Given the description of an element on the screen output the (x, y) to click on. 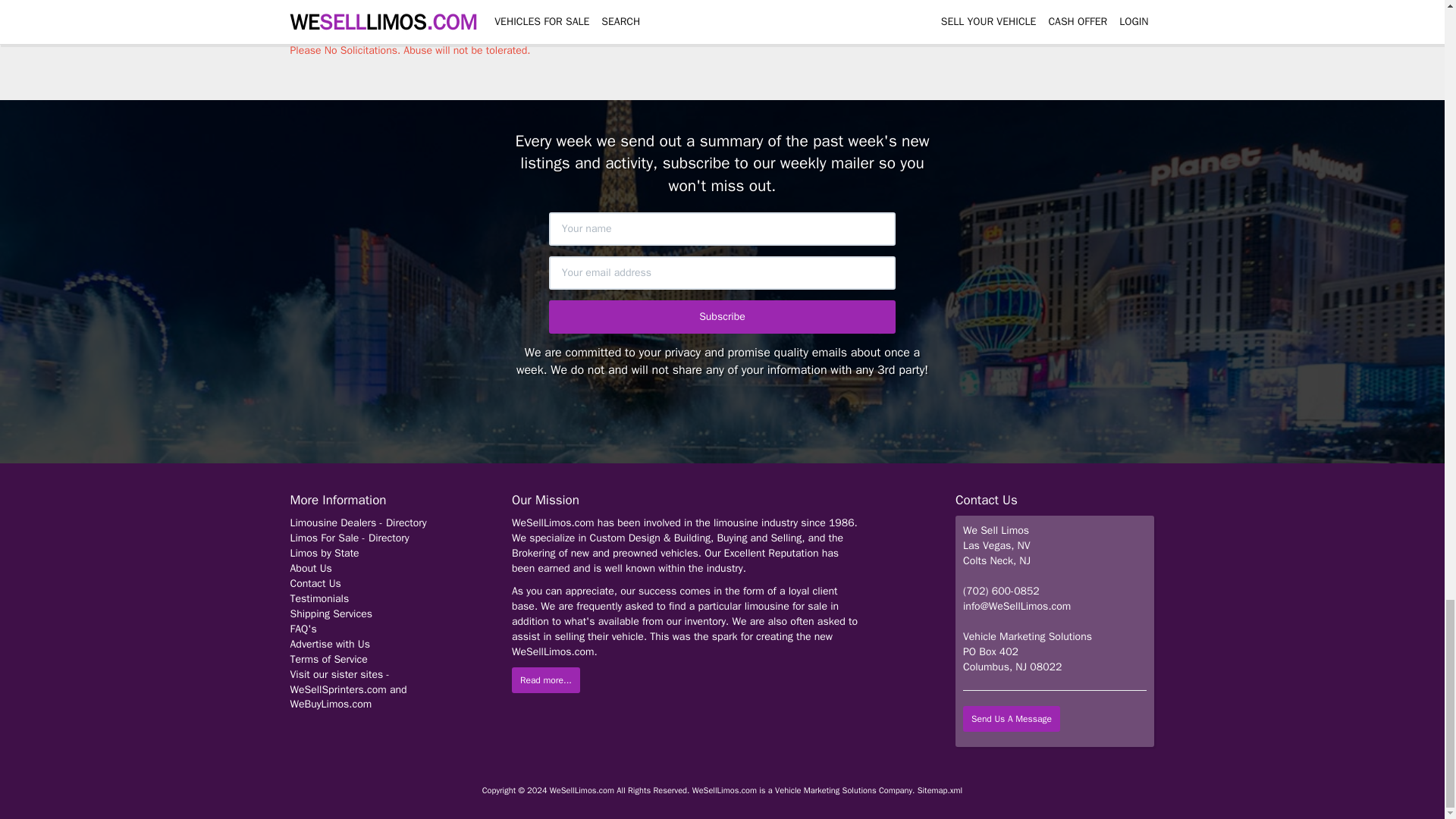
Submit Request (339, 12)
Advertise with Us (329, 644)
Testimonials (319, 598)
About Us (310, 567)
Limousine Dealers (333, 522)
Subscribe (721, 316)
FAQ's (302, 628)
Shipping Services (330, 613)
Limos by State (323, 553)
Limos For Sale (325, 537)
Contact Us (314, 583)
